Given the description of an element on the screen output the (x, y) to click on. 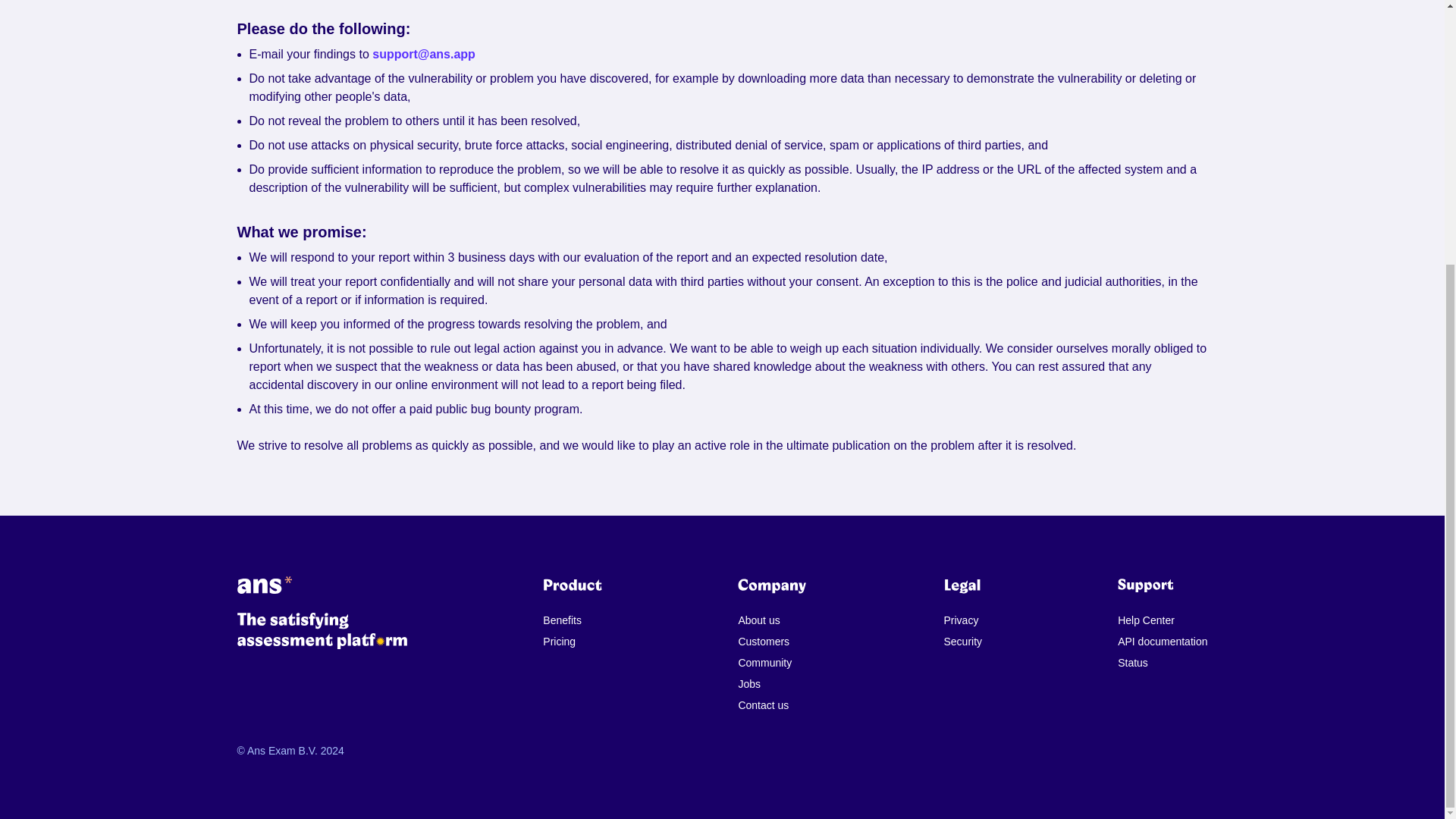
API documentation (1162, 641)
Benefits (561, 620)
Customers (765, 641)
Contact us (765, 704)
Help Center (1162, 620)
Pricing (561, 641)
Security (962, 641)
Community (765, 662)
Privacy (962, 620)
About us (765, 620)
